Given the description of an element on the screen output the (x, y) to click on. 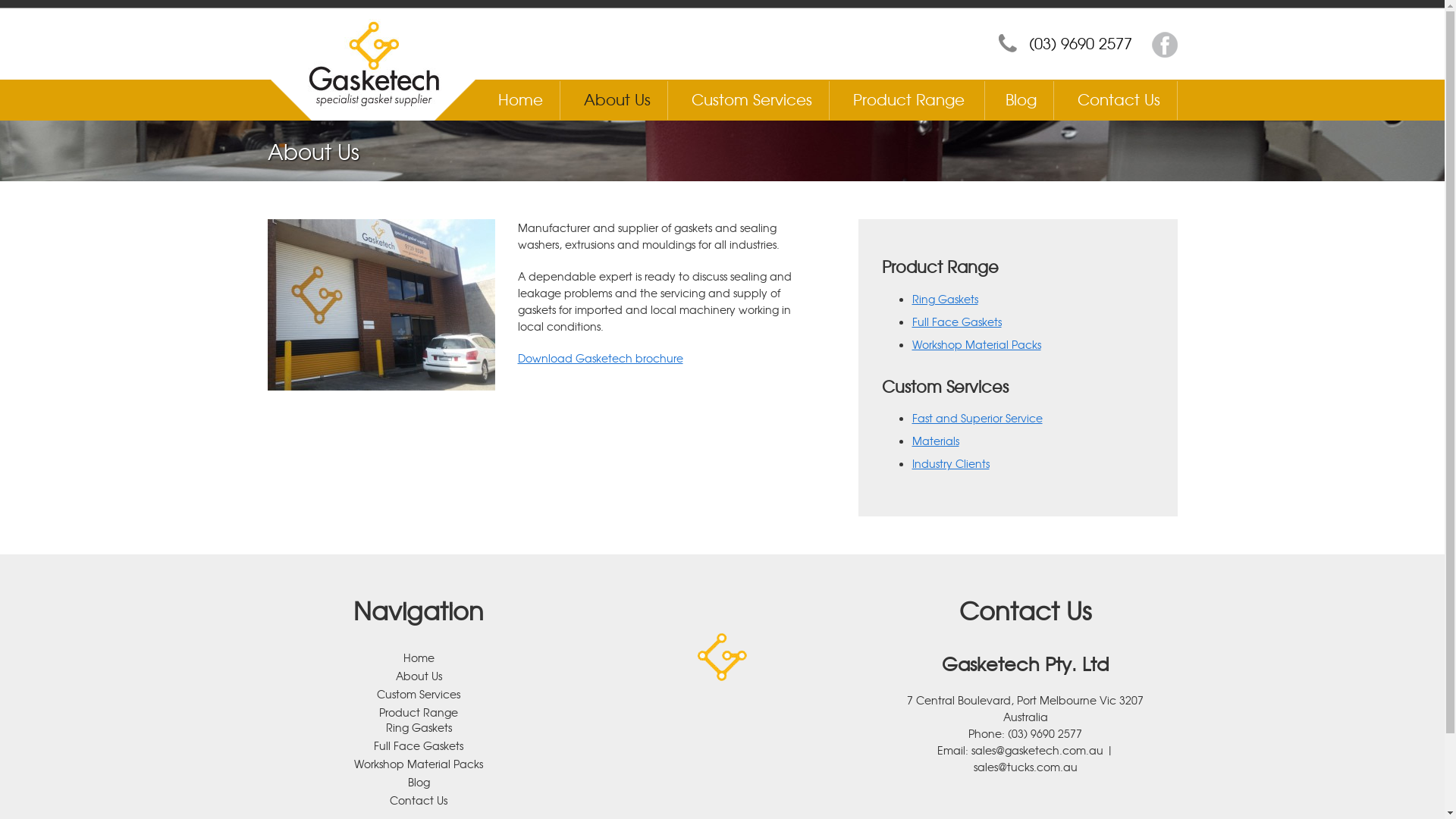
Industry Clients Element type: text (949, 462)
Ring Gaskets Element type: text (418, 726)
Product Range Element type: text (418, 711)
Contact Us Element type: text (418, 799)
Workshop Material Packs Element type: text (418, 763)
Custom Services Element type: text (751, 98)
Home Element type: text (418, 657)
Download Gasketech brochure Element type: text (599, 357)
Custom Services Element type: text (418, 693)
About Us Element type: text (418, 675)
Contact Us Element type: text (1117, 98)
Ring Gaskets Element type: text (944, 298)
Fast and Superior Service Element type: text (976, 417)
Full Face Gaskets Element type: text (956, 321)
Workshop Material Packs Element type: text (975, 343)
Full Face Gaskets Element type: text (418, 745)
Blog Element type: text (418, 781)
Materials Element type: text (934, 440)
About Us Element type: text (616, 98)
Home Element type: text (519, 98)
Blog Element type: text (1020, 98)
Product Range Element type: text (907, 98)
